Given the description of an element on the screen output the (x, y) to click on. 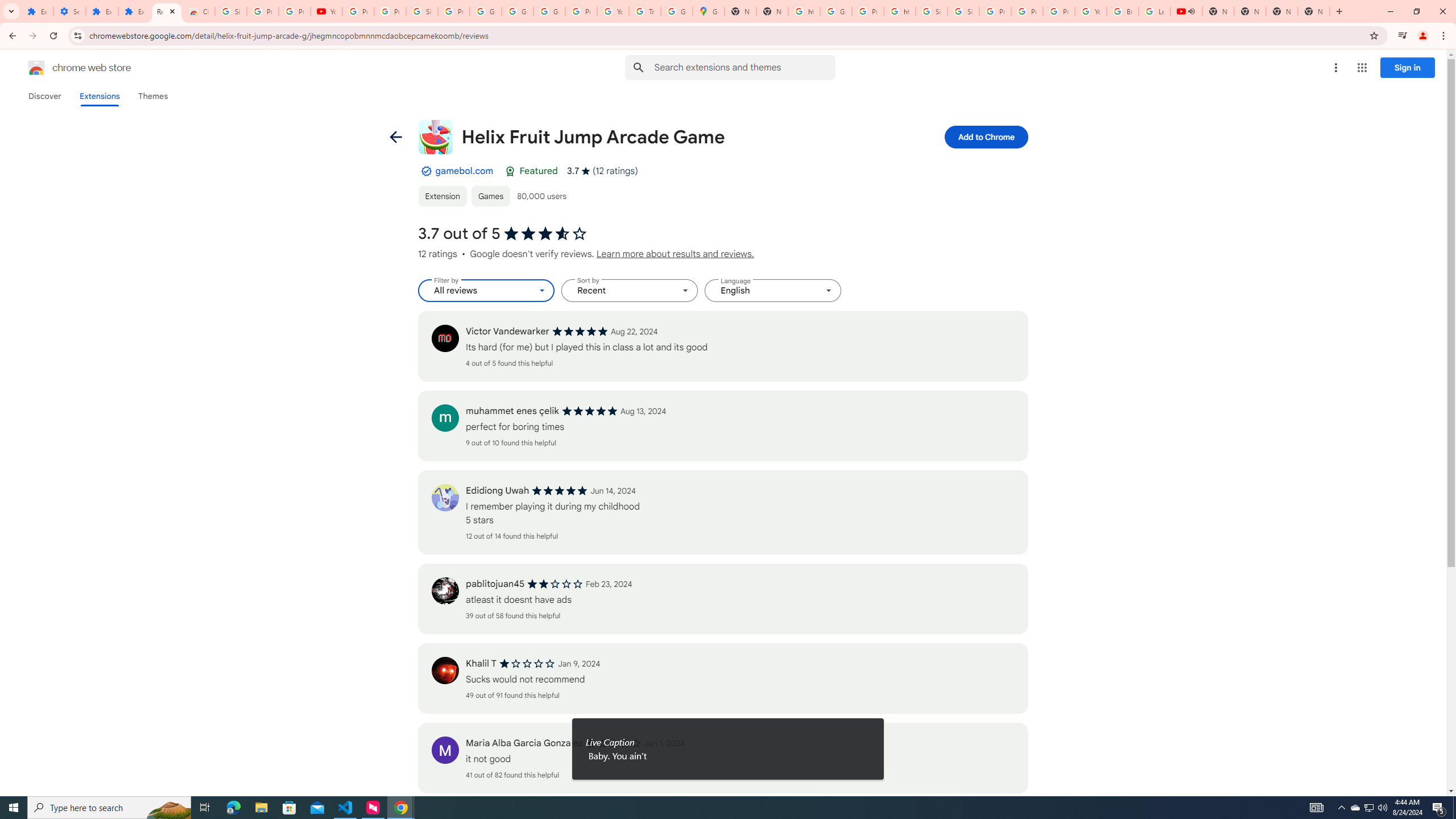
Discover (43, 95)
Google Account (485, 11)
Extensions (134, 11)
Featured Badge (510, 170)
Extension (442, 195)
Themes (152, 95)
Extensions (101, 11)
